Given the description of an element on the screen output the (x, y) to click on. 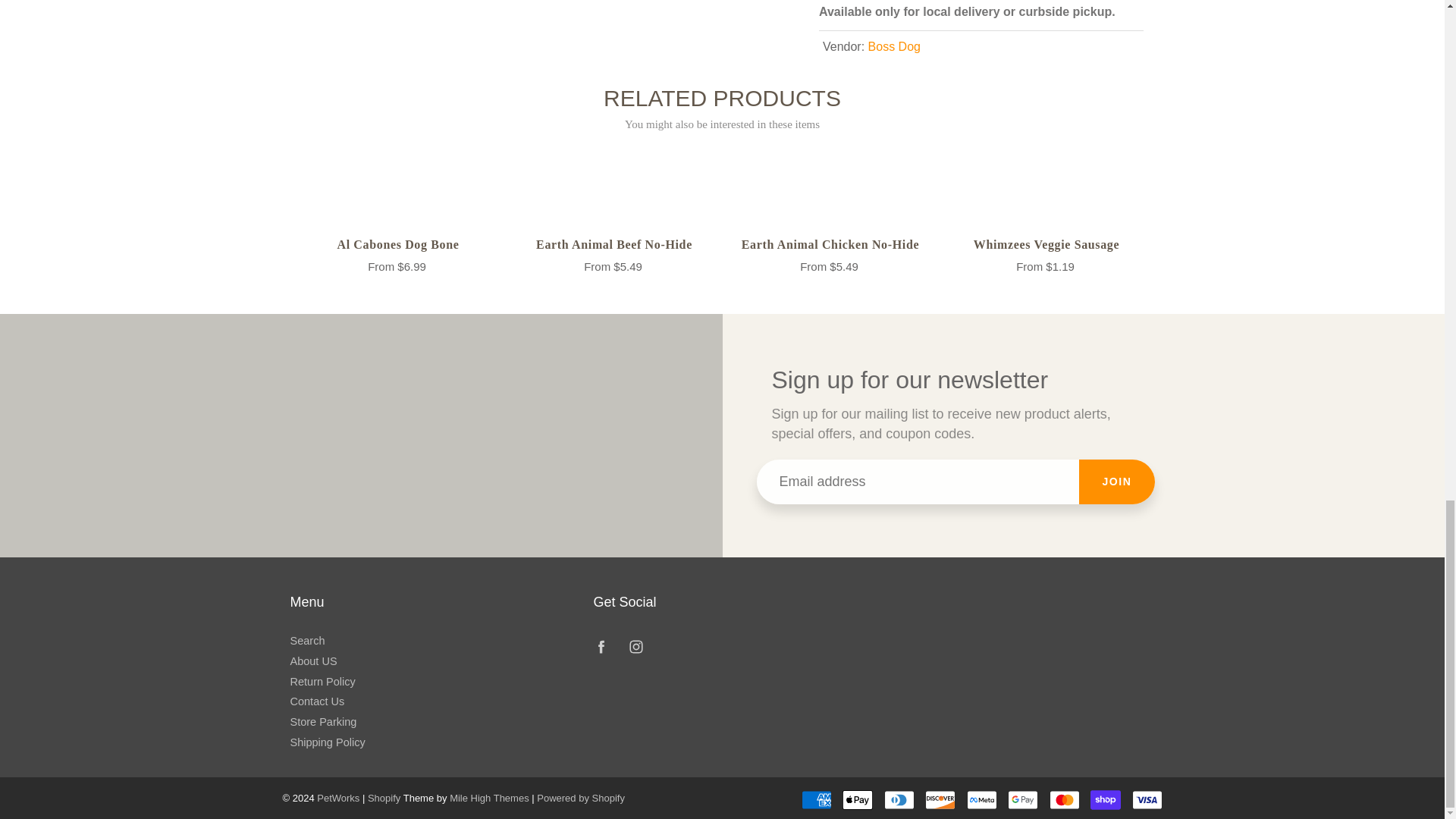
Diners Club (898, 799)
Google Pay (1022, 799)
Meta Pay (981, 799)
Discover (939, 799)
Apple Pay (857, 799)
American Express (816, 799)
Visa (1146, 799)
Shop Pay (1105, 799)
Mastercard (1064, 799)
